Given the description of an element on the screen output the (x, y) to click on. 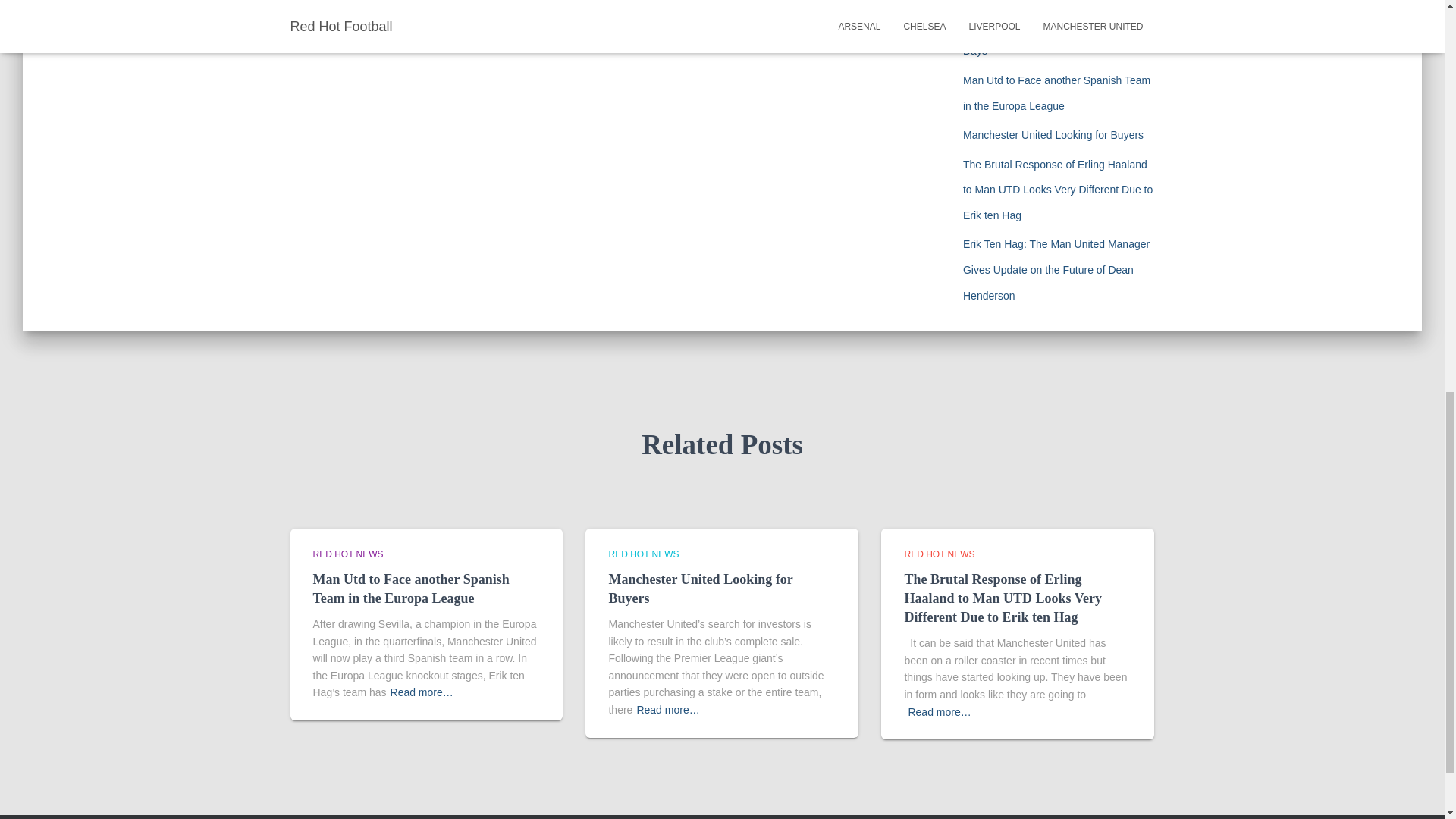
View all posts in Red Hot News (939, 553)
Man Utd to Face another Spanish Team in the Europa League (410, 588)
Manchester United Looking for Buyers (700, 588)
View all posts in Red Hot News (643, 553)
View all posts in Red Hot News (347, 553)
Sergio Reguilon (359, 2)
